Given the description of an element on the screen output the (x, y) to click on. 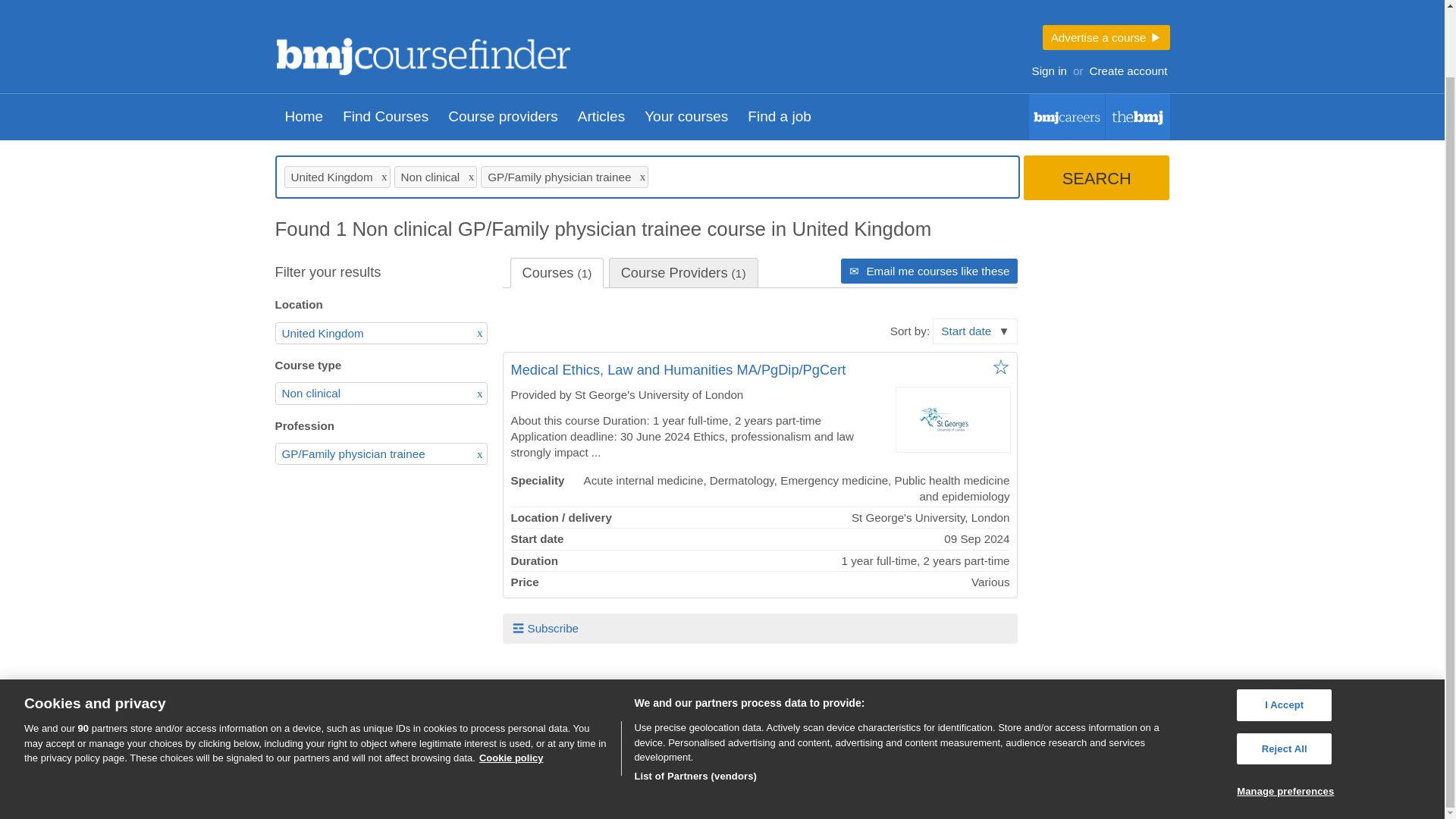
Start date (975, 330)
Find a job (779, 117)
Create account (1128, 70)
Advertise a course (1106, 37)
Course providers (405, 743)
Email me courses like these (929, 270)
Editorial (1137, 116)
Home (304, 117)
SEARCH (1096, 177)
Filter your results (369, 271)
